Given the description of an element on the screen output the (x, y) to click on. 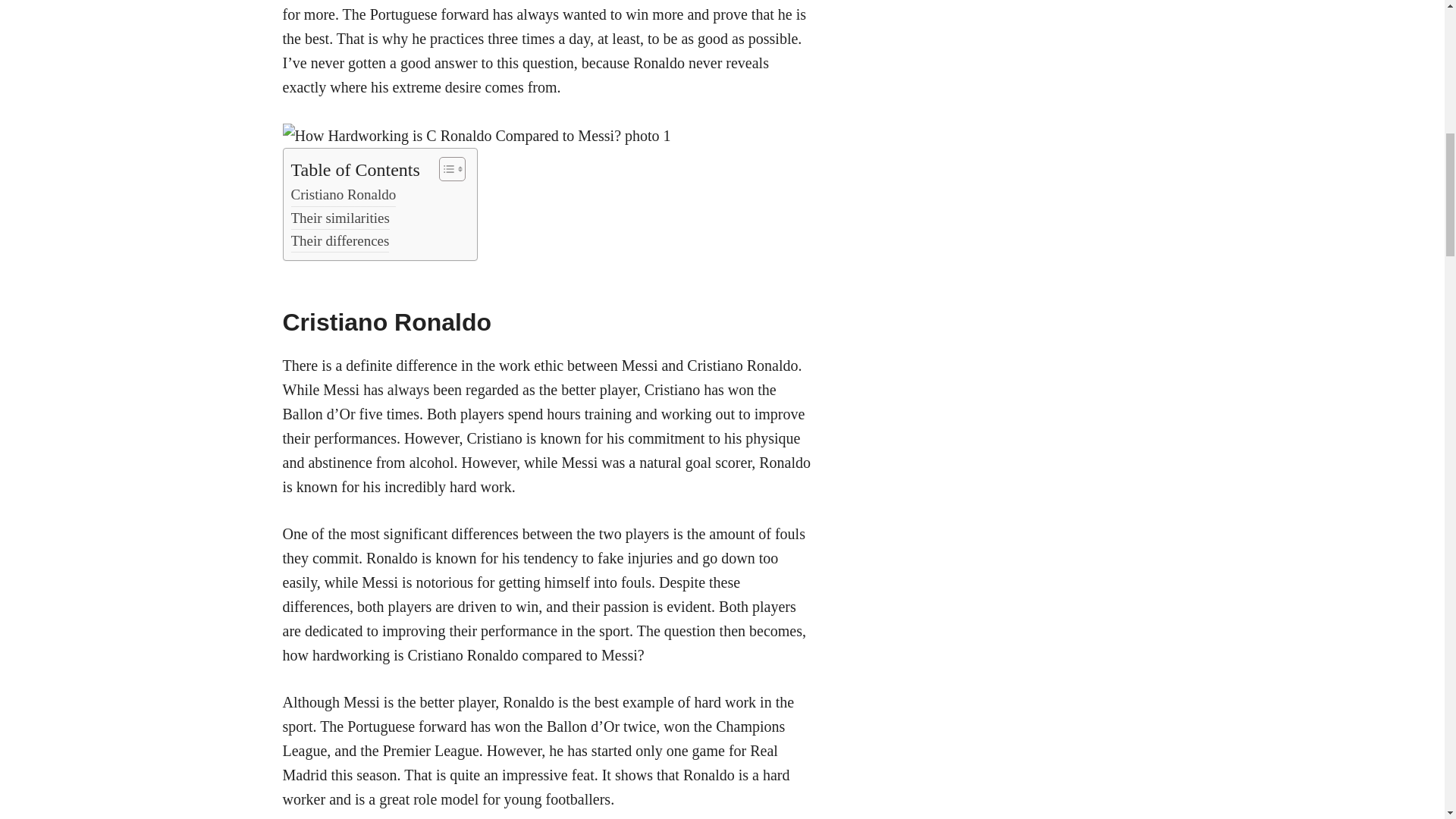
Photo How Hardworking is C Ronaldo Compared to Messi? 0 (475, 135)
Their similarities (340, 218)
Their differences (340, 241)
Cristiano Ronaldo (343, 194)
Cristiano Ronaldo (343, 194)
Their differences (340, 241)
Their similarities (340, 218)
